Given the description of an element on the screen output the (x, y) to click on. 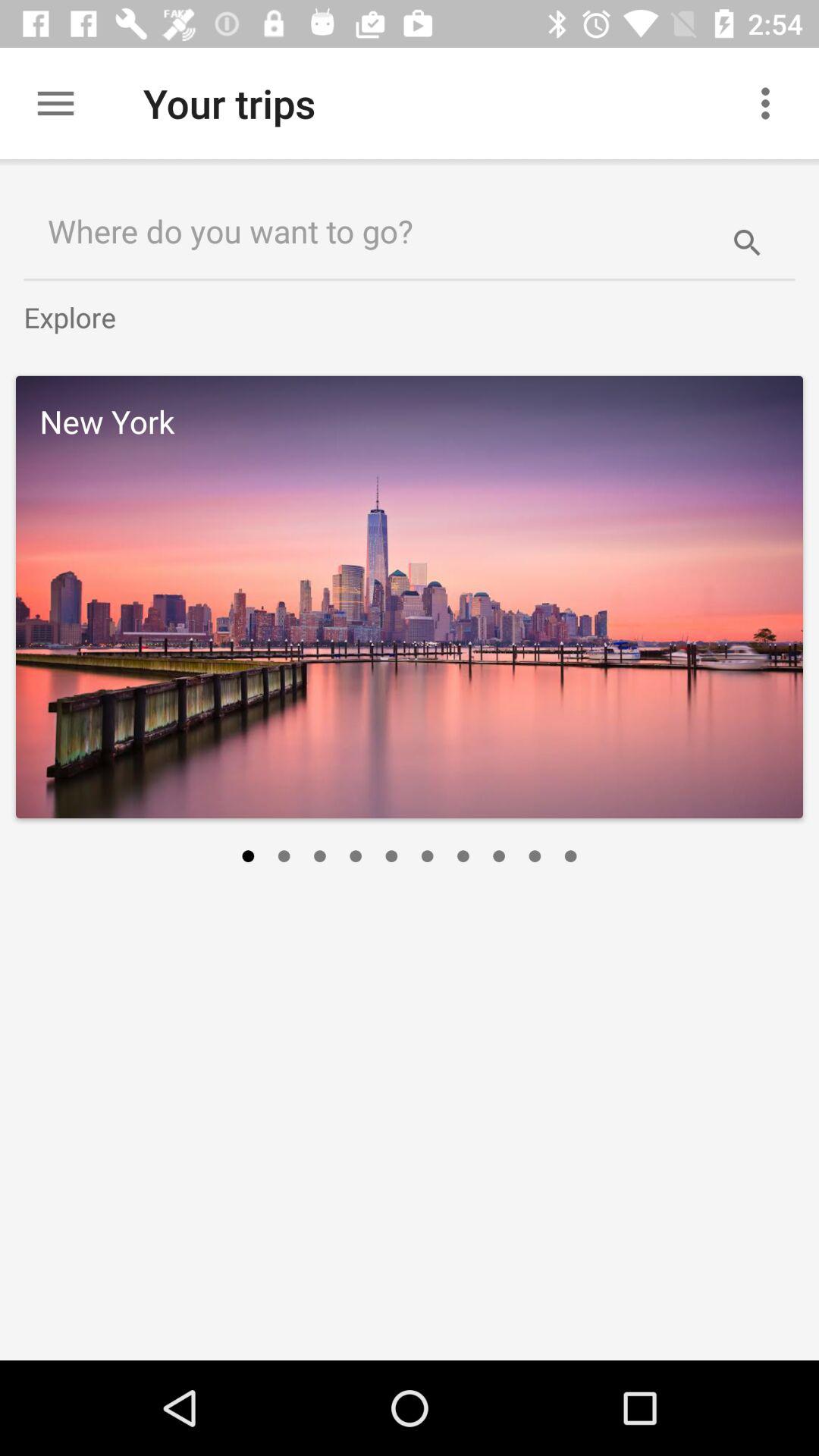
launch the item to the left of your trips (55, 103)
